Given the description of an element on the screen output the (x, y) to click on. 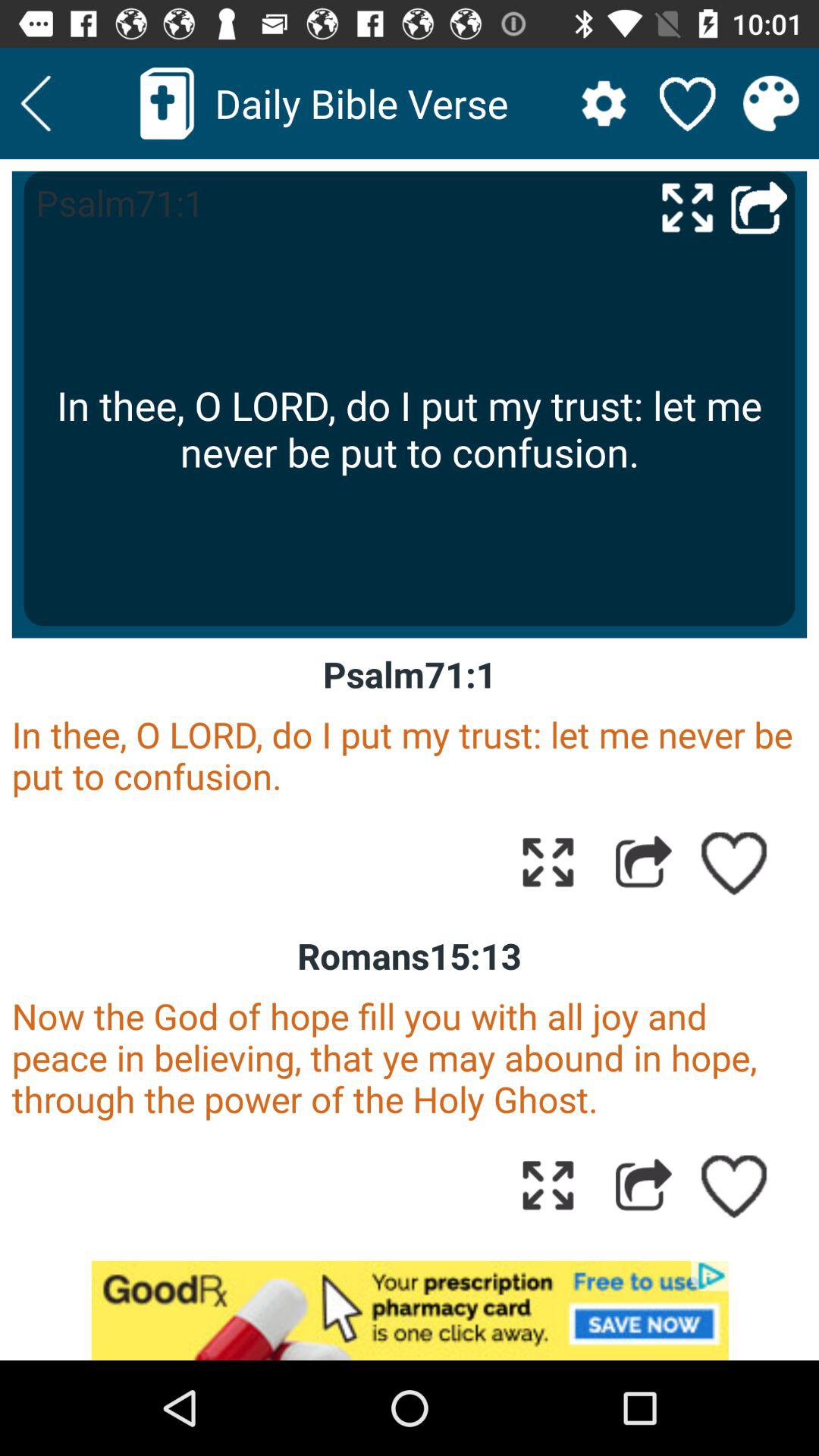
zoom button (548, 1184)
